Given the description of an element on the screen output the (x, y) to click on. 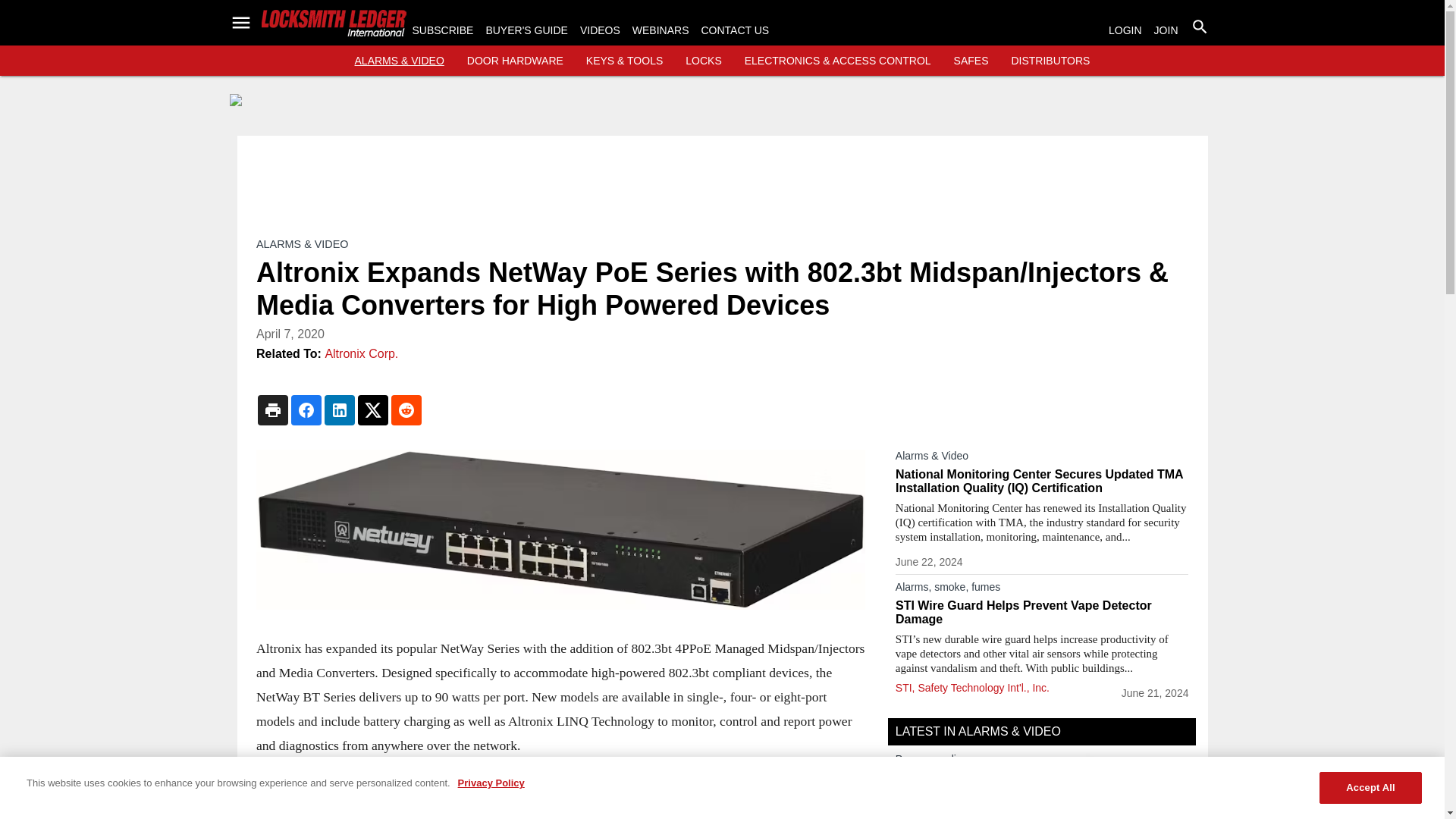
CONTACT US (734, 30)
JOIN (1165, 30)
LOGIN (1124, 30)
SAFES (970, 60)
SUBSCRIBE (443, 30)
Altronix Net Way Bt Series 5e8c9f59ea6f7 (560, 529)
DISTRIBUTORS (1049, 60)
3rd party ad content (722, 181)
LOCKS (702, 60)
BUYER'S GUIDE (525, 30)
WEBINARS (659, 30)
DOOR HARDWARE (515, 60)
VIDEOS (599, 30)
